Given the description of an element on the screen output the (x, y) to click on. 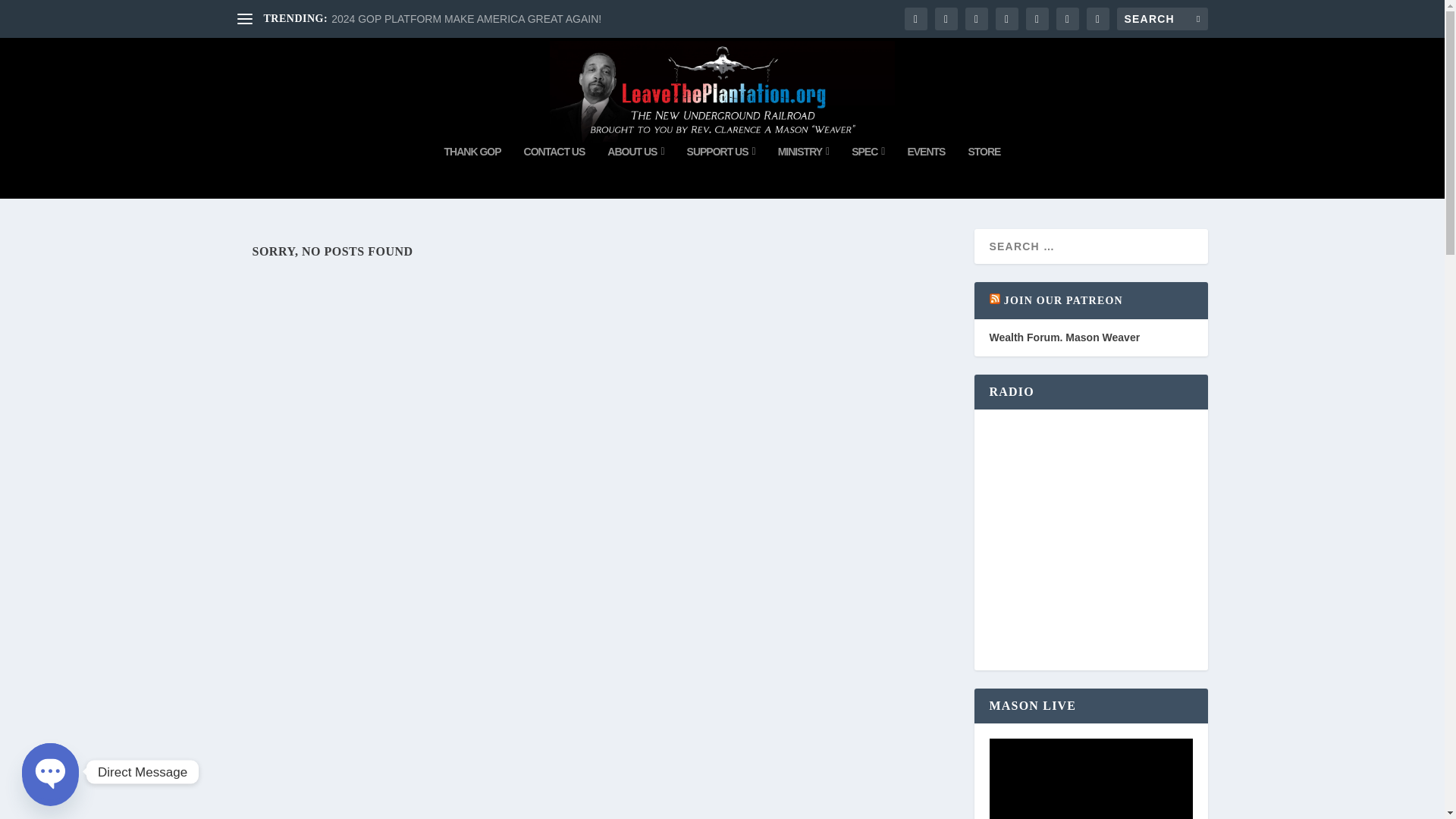
SUPPORT US (721, 172)
Search for: (1161, 18)
ABOUT US (635, 172)
SPEC (867, 172)
2024 GOP PLATFORM MAKE AMERICA GREAT AGAIN! (466, 19)
THANK GOP (472, 172)
MINISTRY (803, 172)
CONTACT US (554, 172)
